Given the description of an element on the screen output the (x, y) to click on. 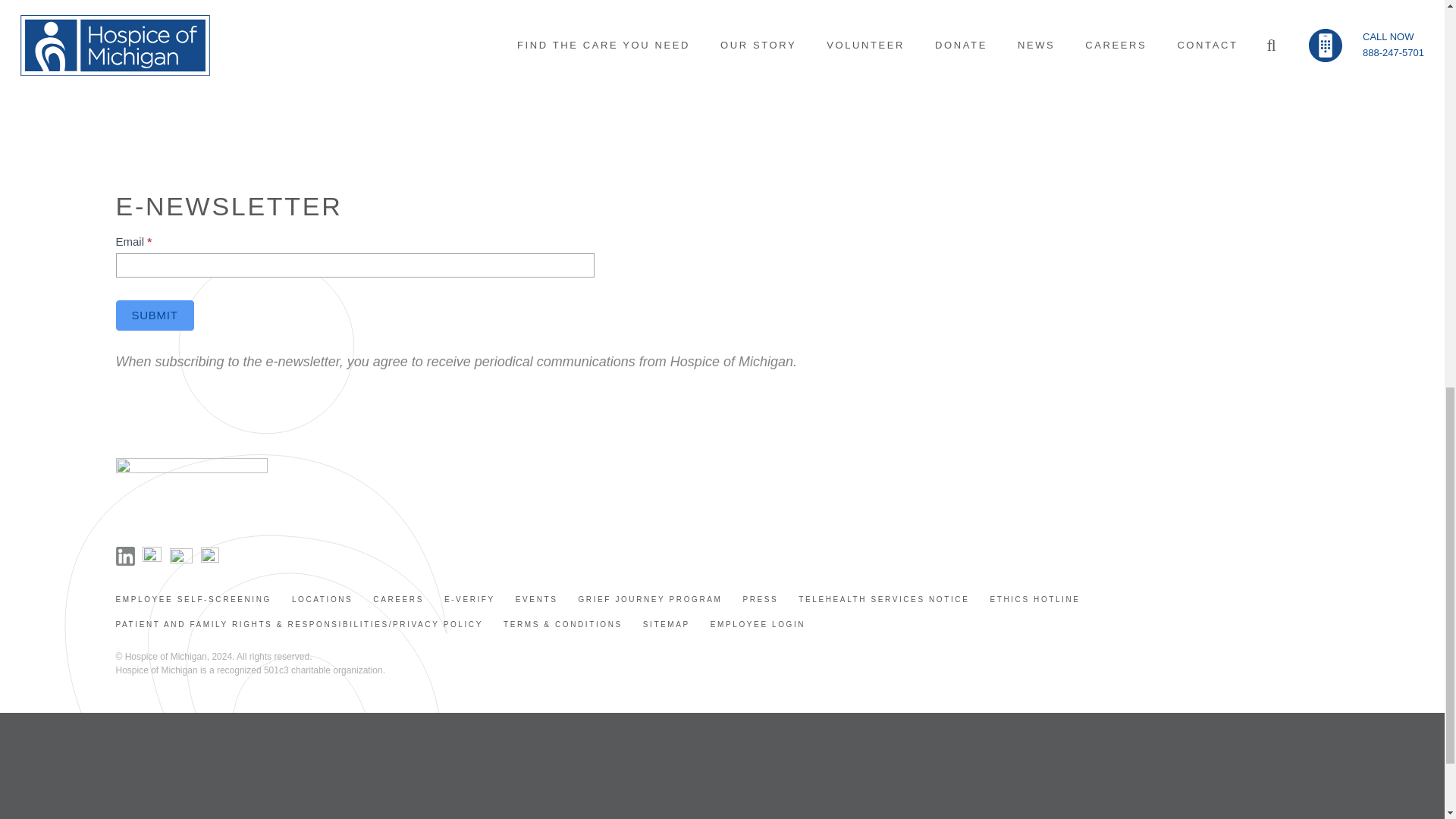
Back to top (30, 26)
